Given the description of an element on the screen output the (x, y) to click on. 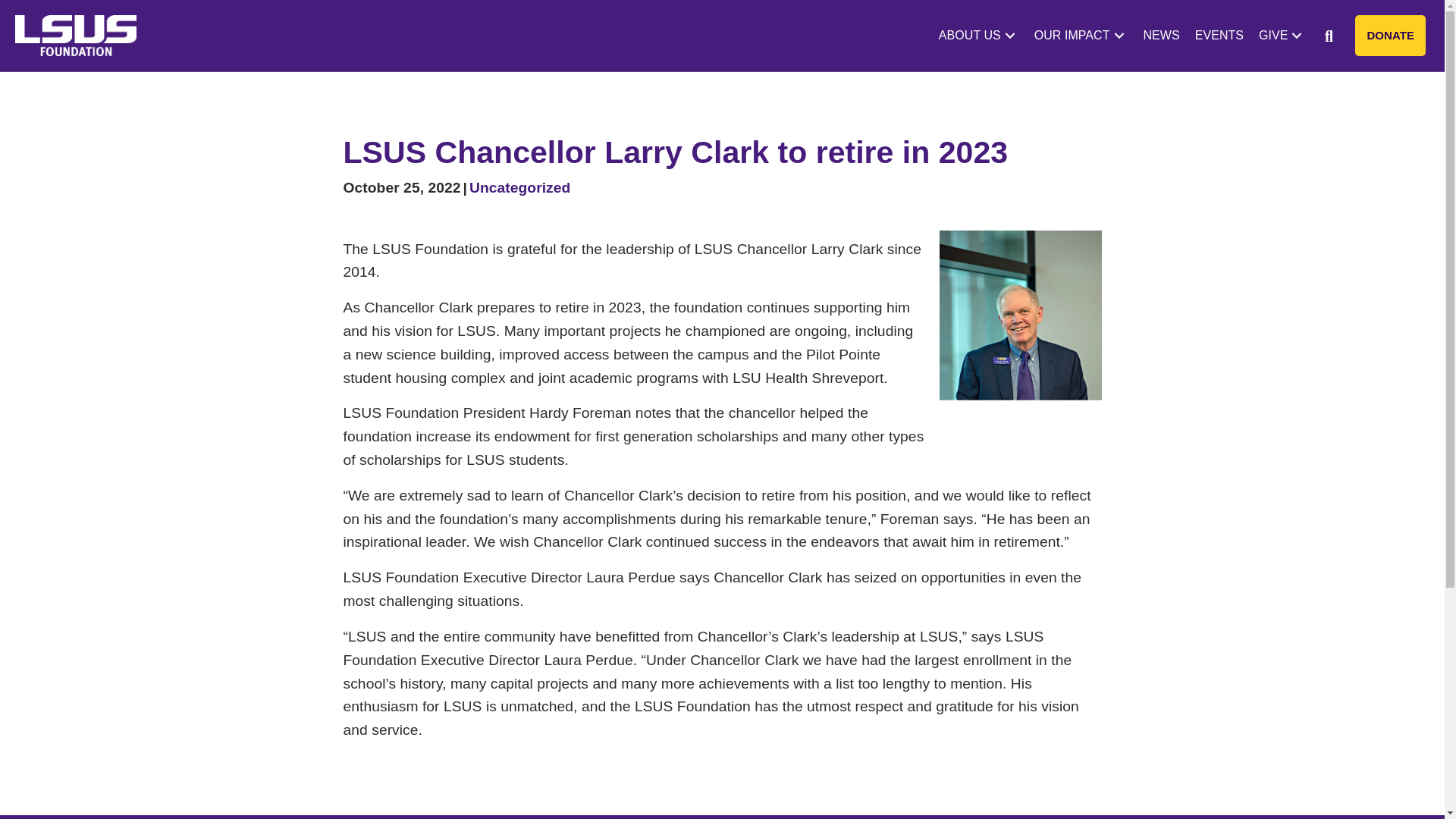
LSUS Logo White (75, 35)
GIVE (1281, 35)
DONATE (1390, 35)
OUR IMPACT (1080, 35)
NEWS (1161, 35)
EVENTS (1219, 35)
Uncategorized (519, 187)
ABOUT US (978, 35)
